Given the description of an element on the screen output the (x, y) to click on. 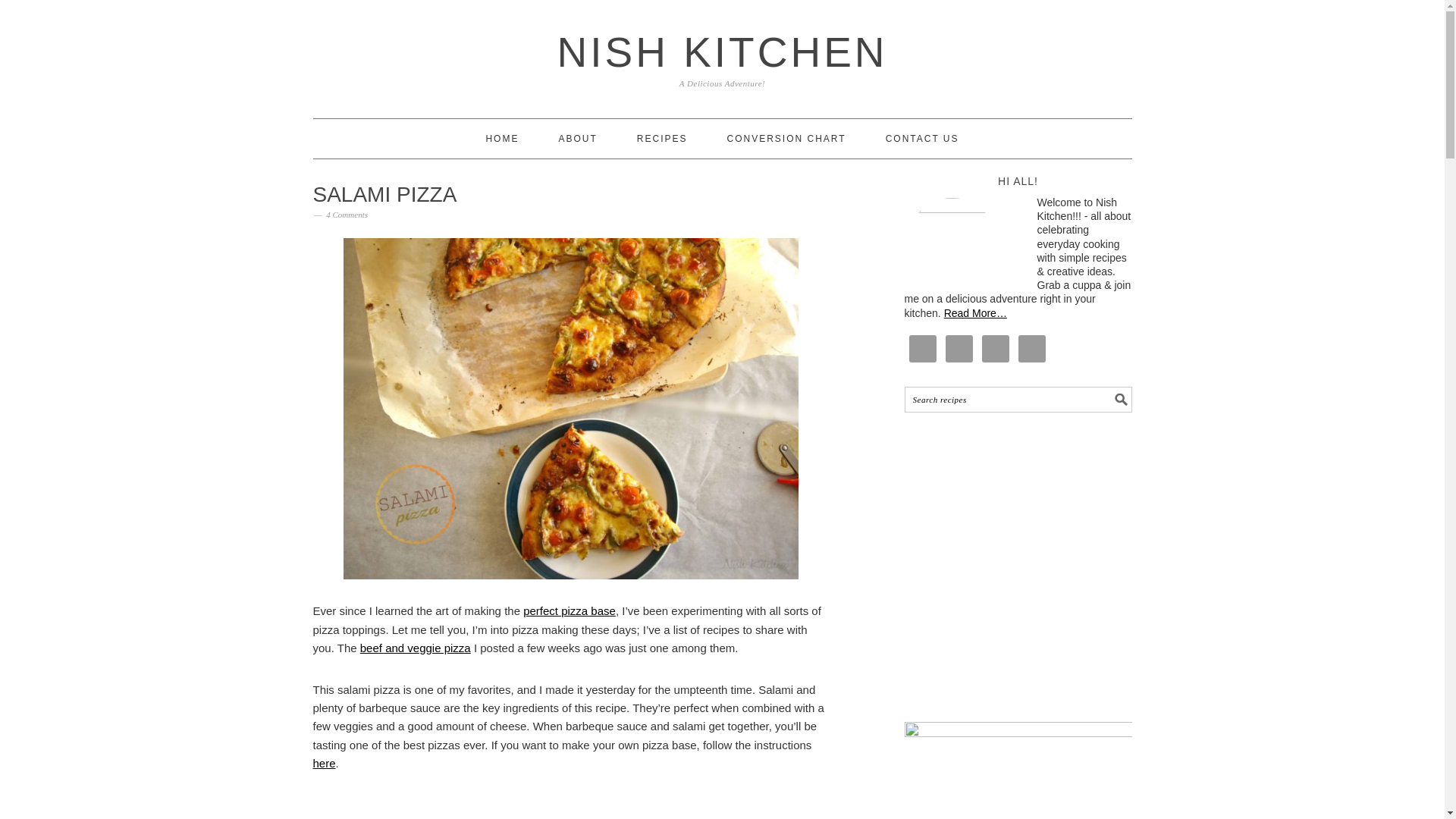
ABOUT (576, 138)
NISH KITCHEN (721, 52)
Secret to Perfect Pizza Base (323, 762)
Secret to Perfect Pizza Base (568, 610)
CONTACT US (922, 138)
CONVERSION CHART (785, 138)
perfect pizza base (568, 610)
4 Comments (347, 214)
here (323, 762)
